Given the description of an element on the screen output the (x, y) to click on. 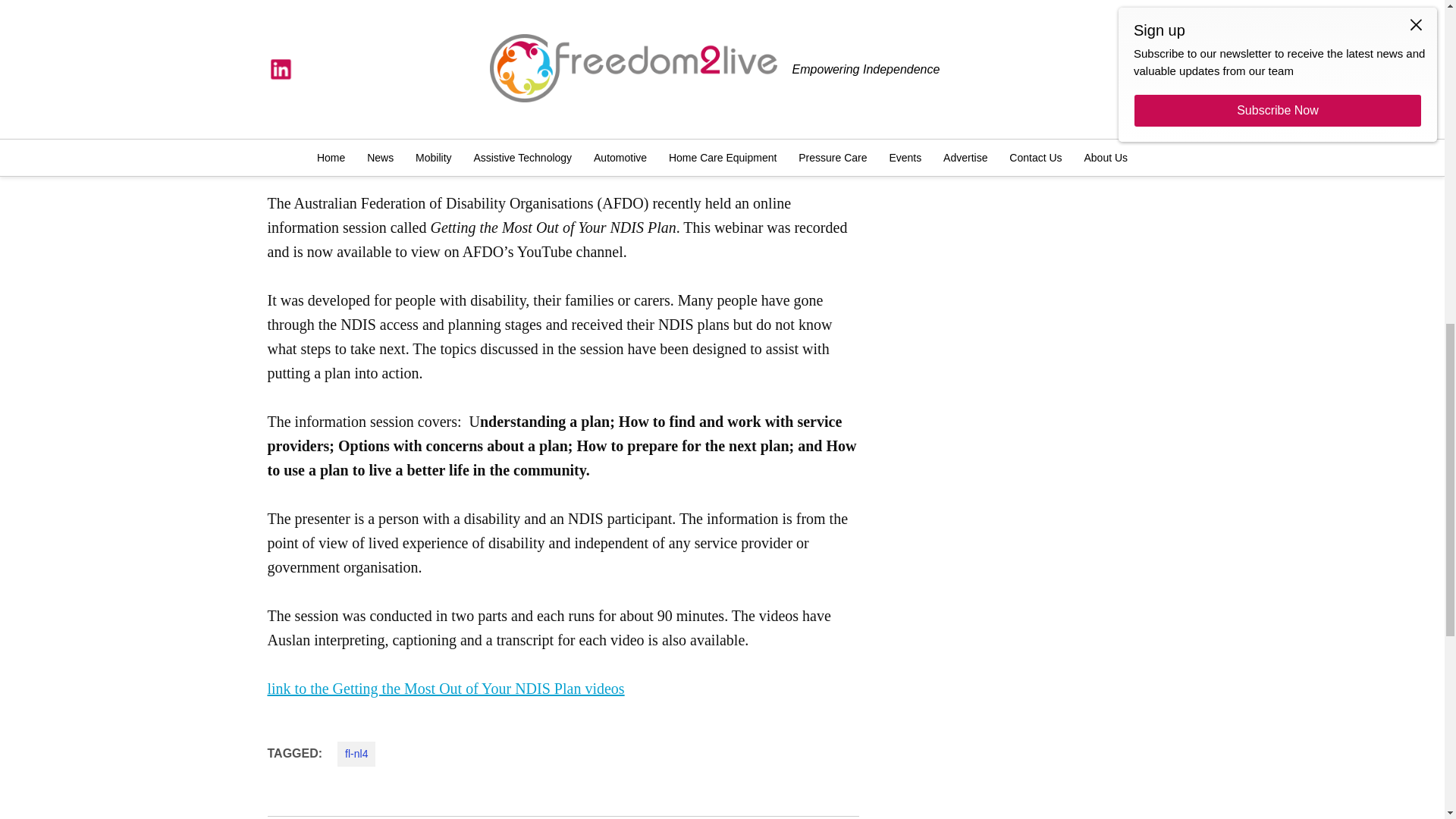
3rd party ad content (1040, 185)
3rd party ad content (1040, 398)
fl-nl4 (356, 753)
link to the Getting the Most Out of Your NDIS Plan videos (445, 688)
Submit (1041, 25)
Submit (1041, 25)
